Given the description of an element on the screen output the (x, y) to click on. 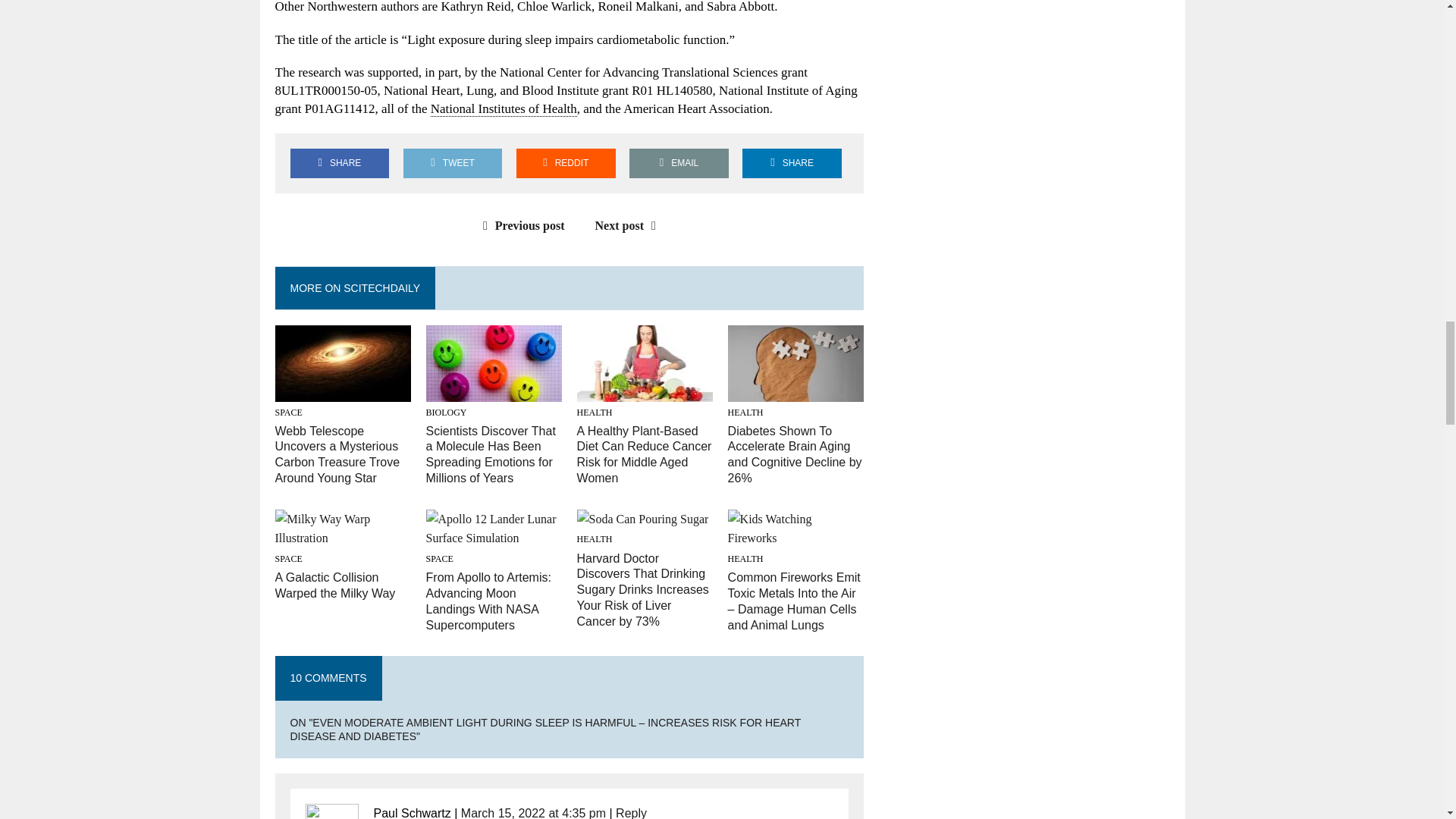
Post This Article to Reddit (565, 163)
Tweet This Article (452, 163)
Share on LinkedIn (791, 163)
Share on Facebook (338, 163)
